Given the description of an element on the screen output the (x, y) to click on. 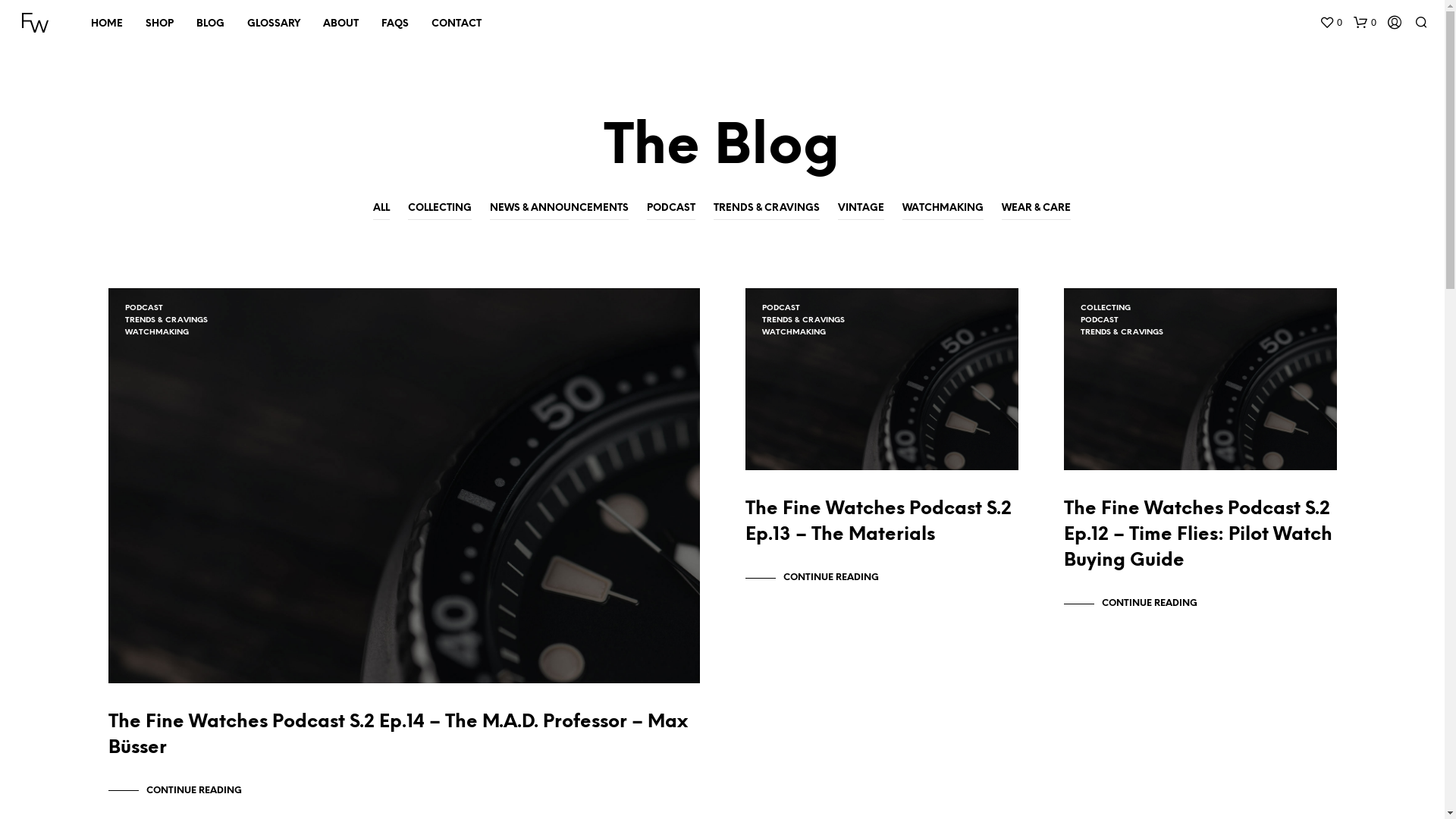
BLOG Element type: text (210, 23)
0 Element type: text (1364, 22)
TRENDS & CRAVINGS Element type: text (165, 320)
TRENDS & CRAVINGS Element type: text (802, 320)
WATCHMAKING Element type: text (156, 332)
HOME Element type: text (106, 23)
NEWS & ANNOUNCEMENTS Element type: text (558, 208)
PODCAST Element type: text (670, 208)
PODCAST Element type: text (143, 308)
PODCAST Element type: text (1098, 320)
GLOSSARY Element type: text (273, 23)
0 Element type: text (1330, 22)
PODCAST Element type: text (780, 308)
ALL Element type: text (381, 208)
TRENDS & CRAVINGS Element type: text (766, 208)
FAQS Element type: text (395, 23)
WATCHMAKING Element type: text (793, 332)
SHOP Element type: text (159, 23)
CONTINUE READING Element type: text (811, 577)
COLLECTING Element type: text (439, 208)
WEAR & CARE Element type: text (1035, 208)
ABOUT Element type: text (340, 23)
WATCHMAKING Element type: text (942, 208)
TRENDS & CRAVINGS Element type: text (1120, 332)
CONTINUE READING Element type: text (174, 790)
CONTACT Element type: text (456, 23)
CONTINUE READING Element type: text (1129, 603)
COLLECTING Element type: text (1104, 308)
VINTAGE Element type: text (860, 208)
